Given the description of an element on the screen output the (x, y) to click on. 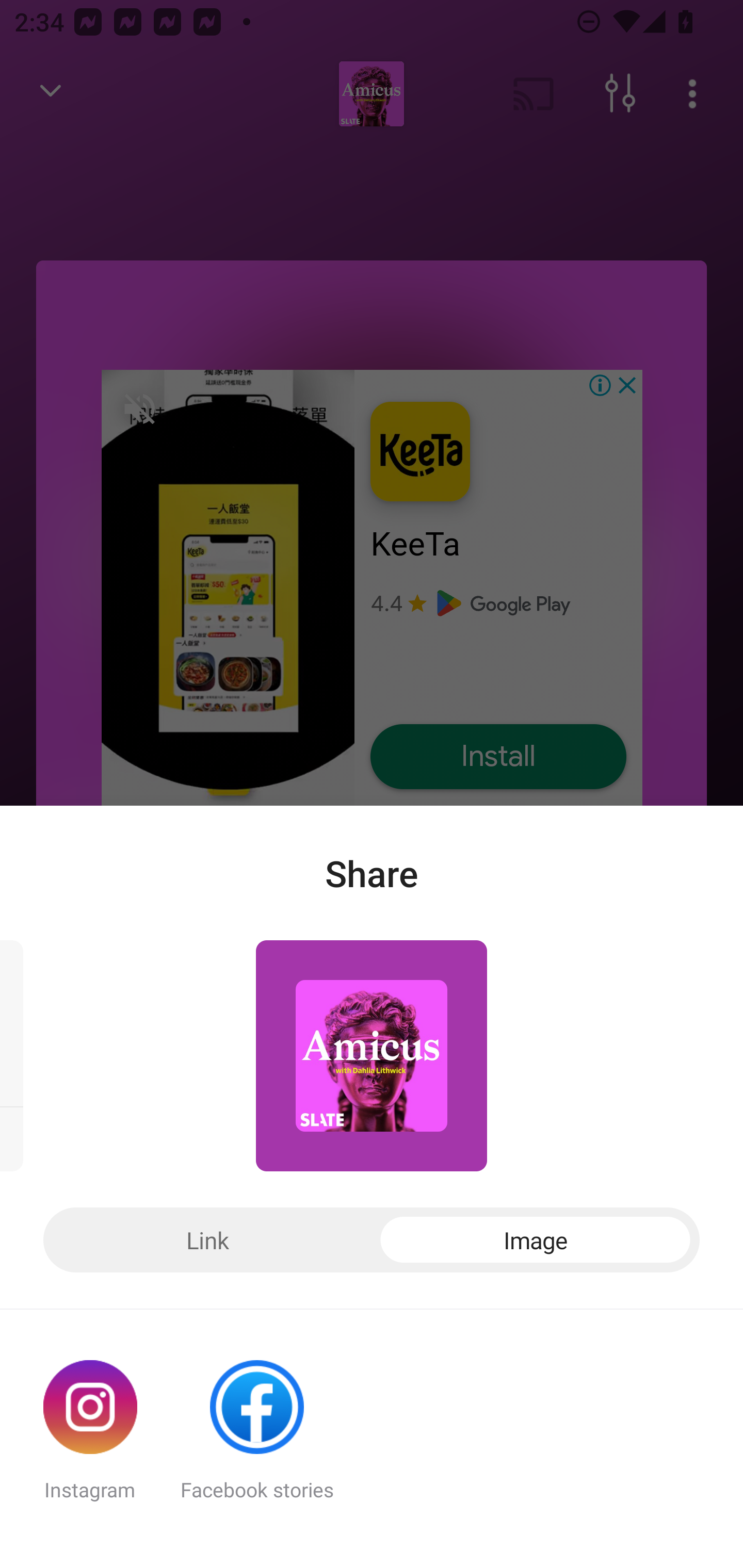
Link (207, 1240)
Image (535, 1240)
Instagram (90, 1438)
Facebook stories (256, 1438)
